Given the description of an element on the screen output the (x, y) to click on. 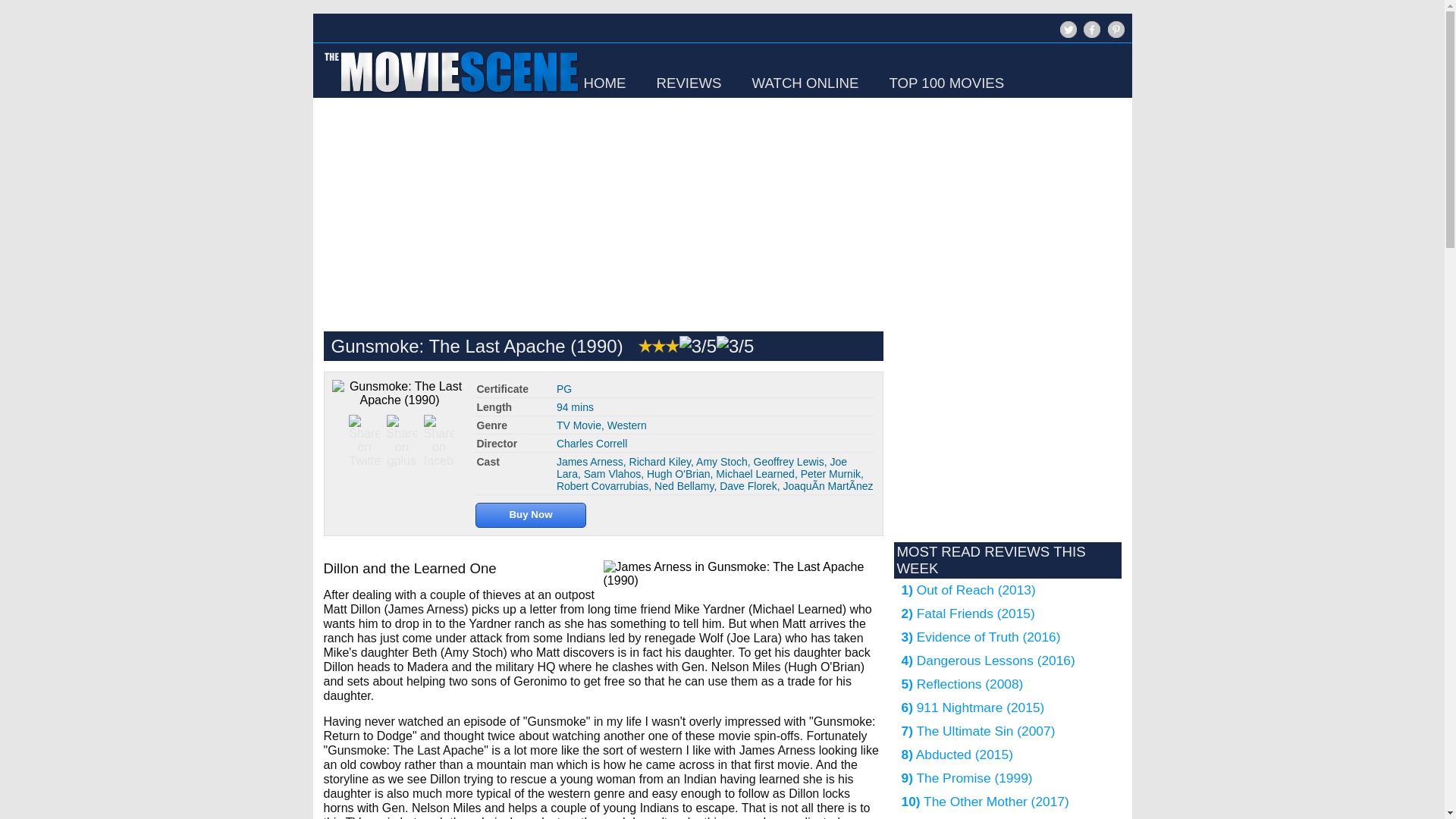
Ned Bellamy (683, 485)
Michael Learned (755, 473)
WATCH ONLINE (805, 83)
Robert Covarrubias (601, 485)
Like The Movie Scene on facebook (1090, 37)
Follow The Movie Scene on Pinterest (1115, 29)
TOP 100 MOVIES (946, 83)
REVIEWS (688, 83)
Sam Vlahos (611, 473)
